Given the description of an element on the screen output the (x, y) to click on. 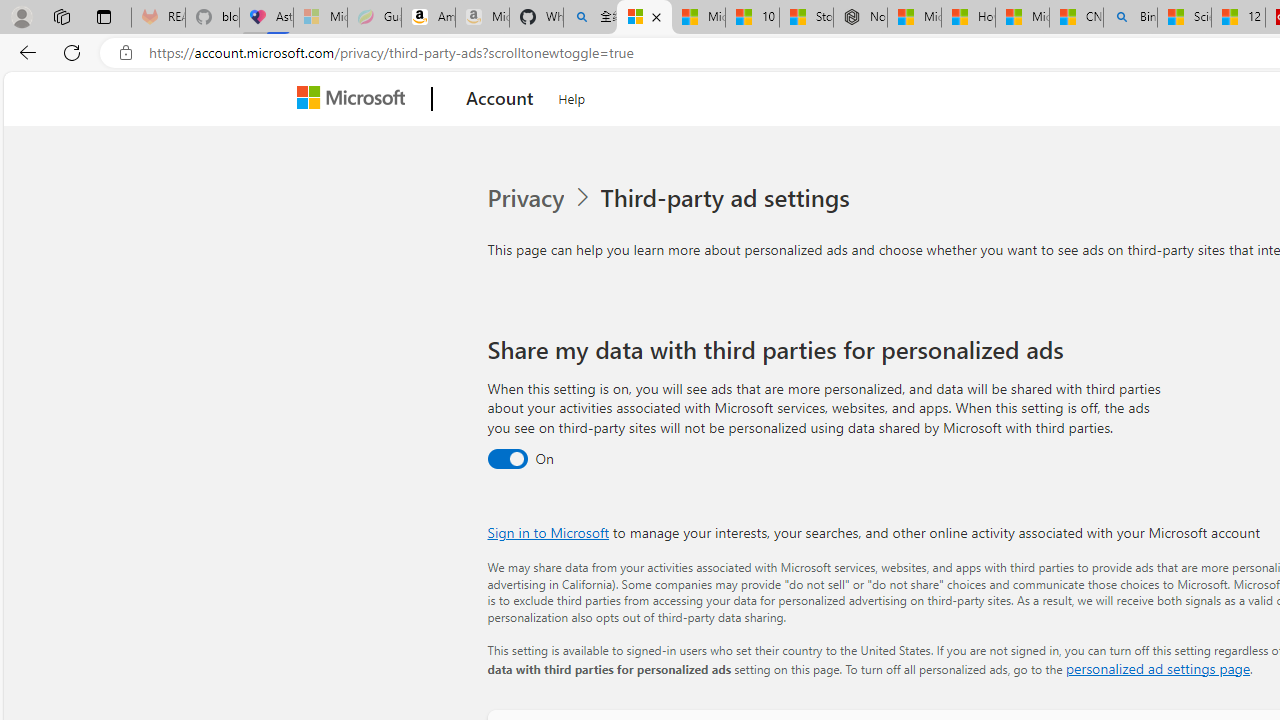
Third party data sharing toggle (506, 459)
personalized ad settings page (1157, 668)
Sign in to Microsoft (548, 532)
